Given the description of an element on the screen output the (x, y) to click on. 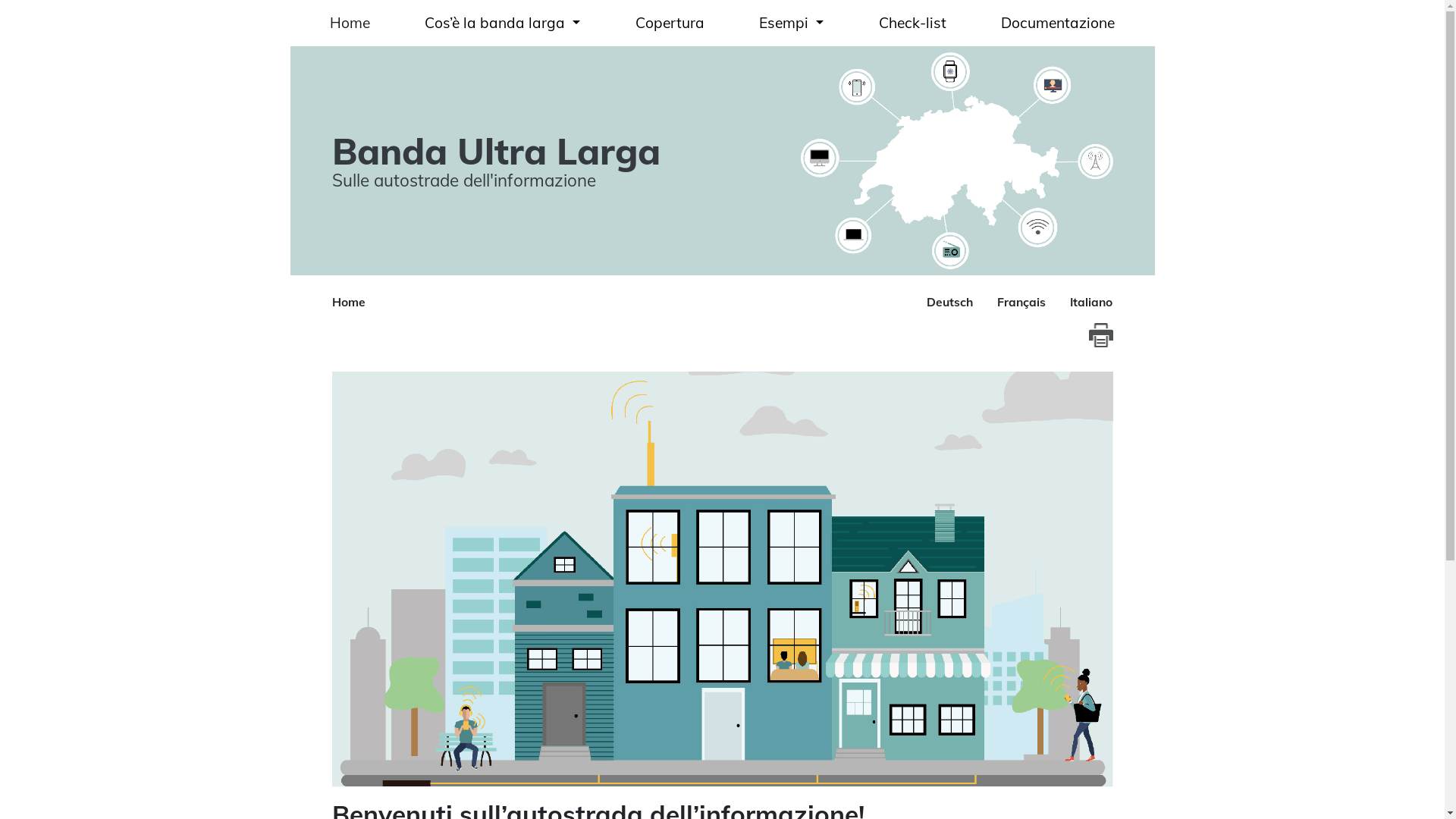
Esempi Element type: text (790, 23)
Check-list Element type: text (911, 23)
Italiano Element type: text (1090, 301)
Banda Ultra Larga
Sulle autostrade dell'informazione Element type: text (521, 160)
Documentazione Element type: text (1057, 23)
Copertura Element type: text (669, 23)
Home Element type: text (350, 23)
Deutsch Element type: text (949, 301)
